Given the description of an element on the screen output the (x, y) to click on. 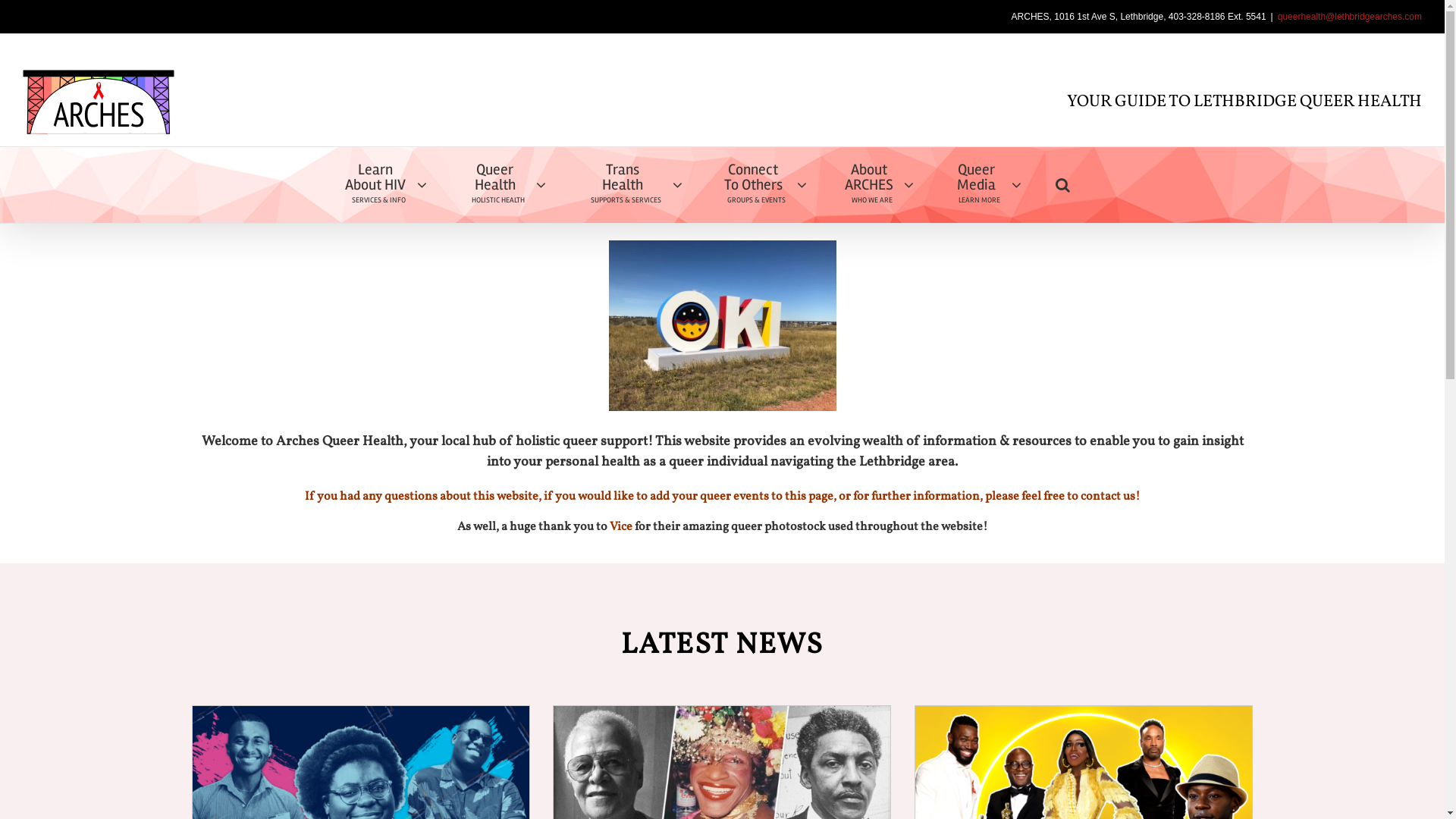
Vice Element type: text (620, 526)
Trans
Health
SUPPORTS & SERVICES Element type: text (630, 184)
OKI-sign Element type: hover (721, 325)
Queer
Media
LEARN MORE Element type: text (984, 184)
Learn
About HIV
SERVICES & INFO Element type: text (383, 184)
Queer
Health
HOLISTIC HEALTH Element type: text (503, 184)
LATEST NEWS Element type: text (722, 645)
Connect
To Others
GROUPS & EVENTS Element type: text (760, 184)
About
ARCHES
WHO WE ARE Element type: text (876, 184)
queerhealth@lethbridgearches.com Element type: text (1349, 16)
Search Element type: hover (1062, 184)
